Given the description of an element on the screen output the (x, y) to click on. 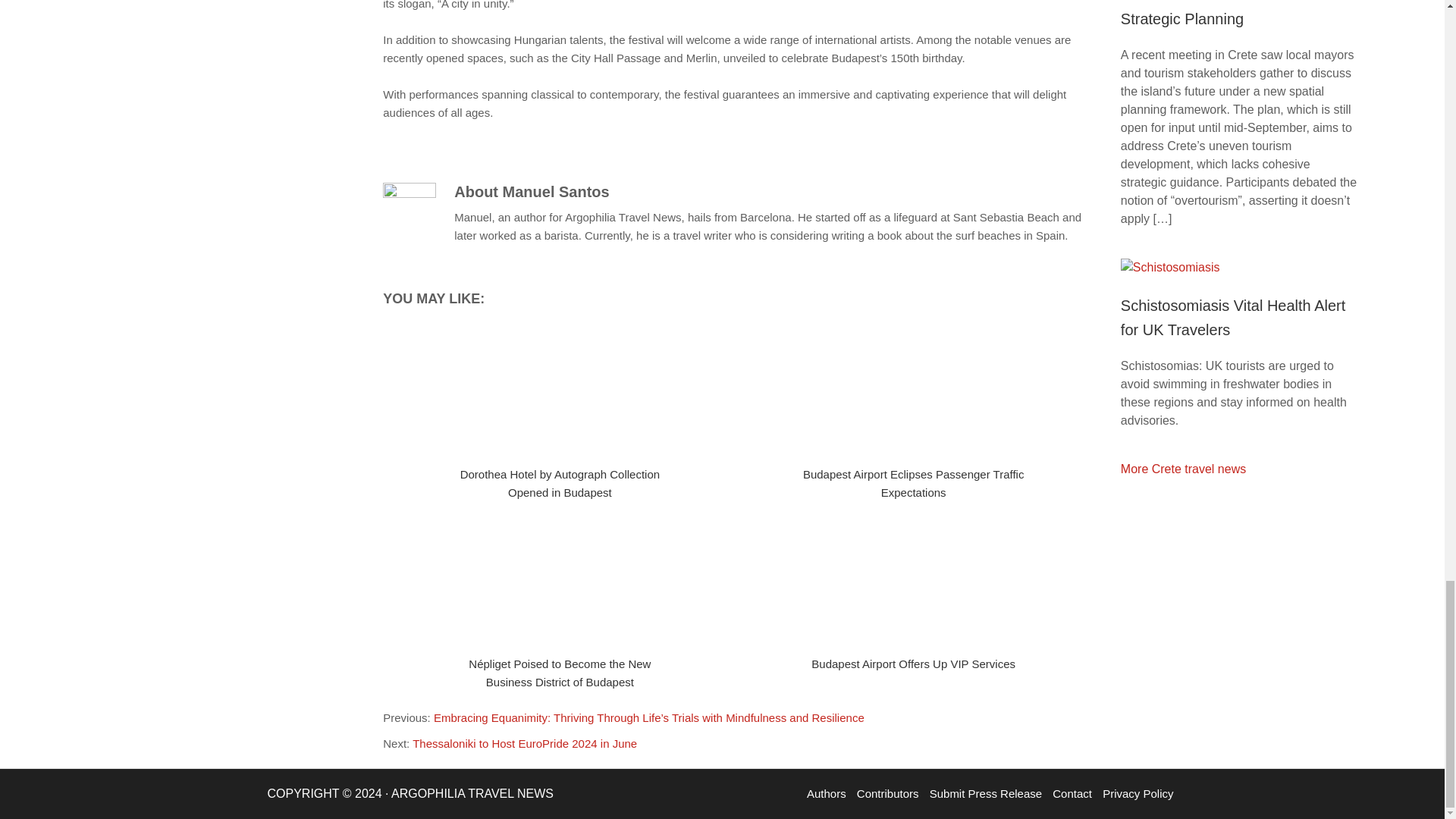
Permanent Link to  (559, 579)
Dorothea Hotel by Autograph Collection Opened in Budapest (560, 482)
Thessaloniki to Host EuroPride 2024 in June (524, 743)
Authors (826, 793)
Budapest Airport Eclipses Passenger Traffic Expectations (914, 482)
Crete (1183, 468)
Permanent Link toBudapest Airport Offers Up VIP Services (912, 663)
Permanent Link to  (559, 390)
